Given the description of an element on the screen output the (x, y) to click on. 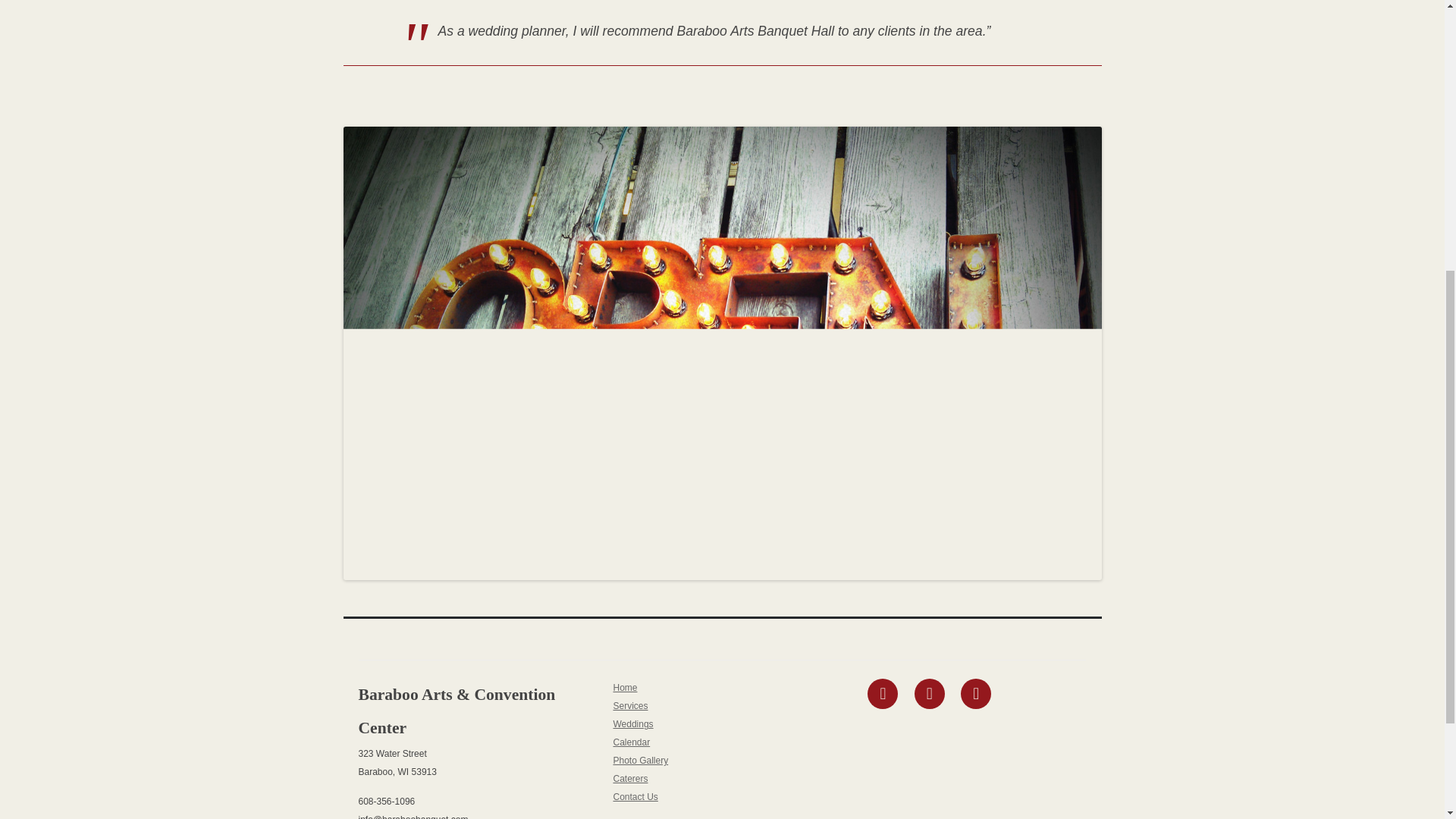
Services (629, 706)
Photo Gallery (640, 760)
Home (624, 687)
Weddings (632, 724)
Contact Us (635, 796)
Caterers (629, 778)
Calendar (630, 742)
